Given the description of an element on the screen output the (x, y) to click on. 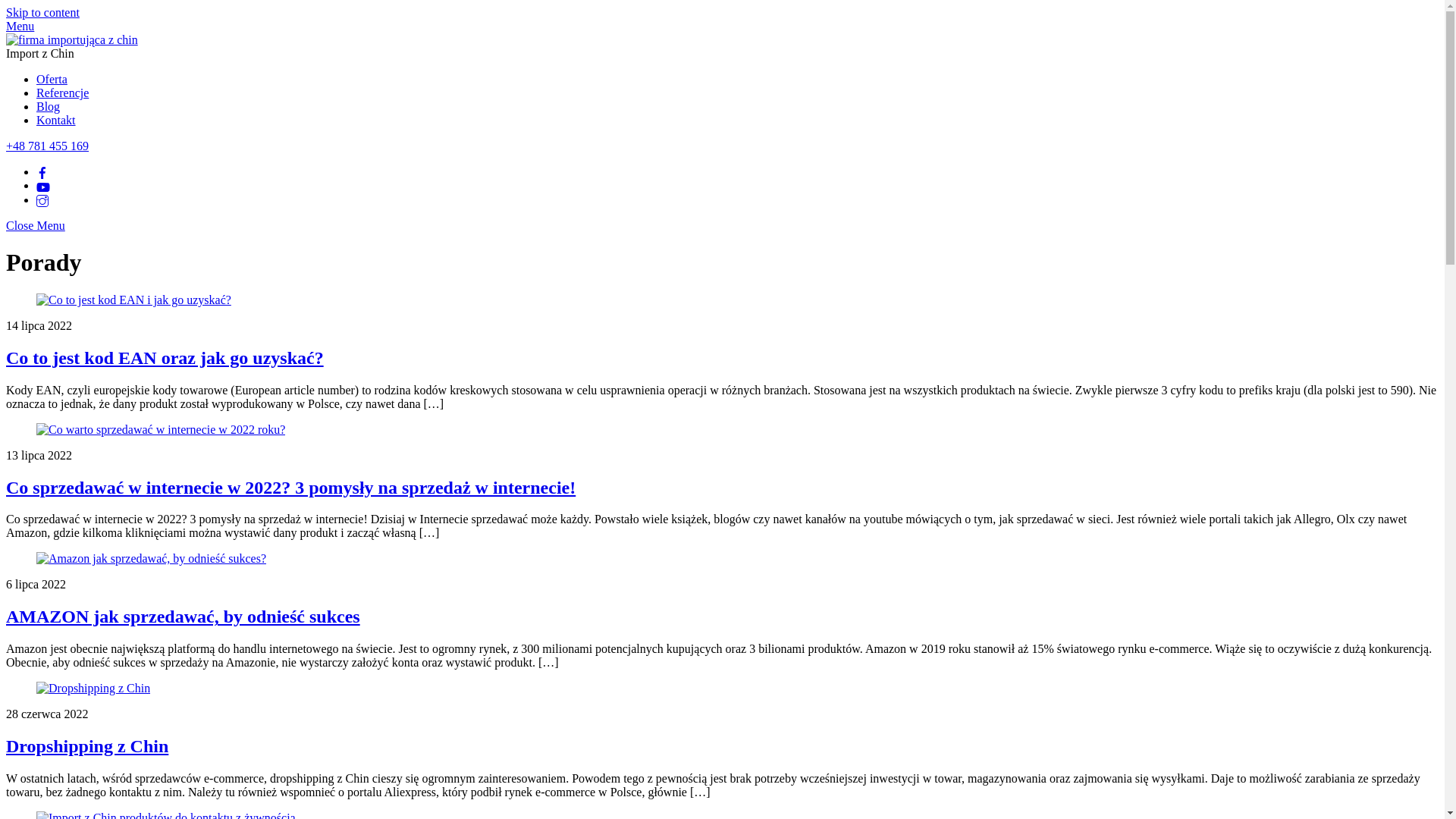
Oferta Element type: text (51, 78)
Menu Element type: text (20, 25)
Blog Element type: text (47, 106)
Skip to content Element type: text (42, 12)
+48 781 455 169 Element type: text (47, 145)
1688poland.com Element type: hover (72, 39)
Referencje Element type: text (62, 92)
Close Menu Element type: text (35, 225)
Kontakt Element type: text (55, 119)
Dropshipping z Chin Element type: text (87, 746)
Dropshipping z Chin Element type: hover (93, 688)
